Given the description of an element on the screen output the (x, y) to click on. 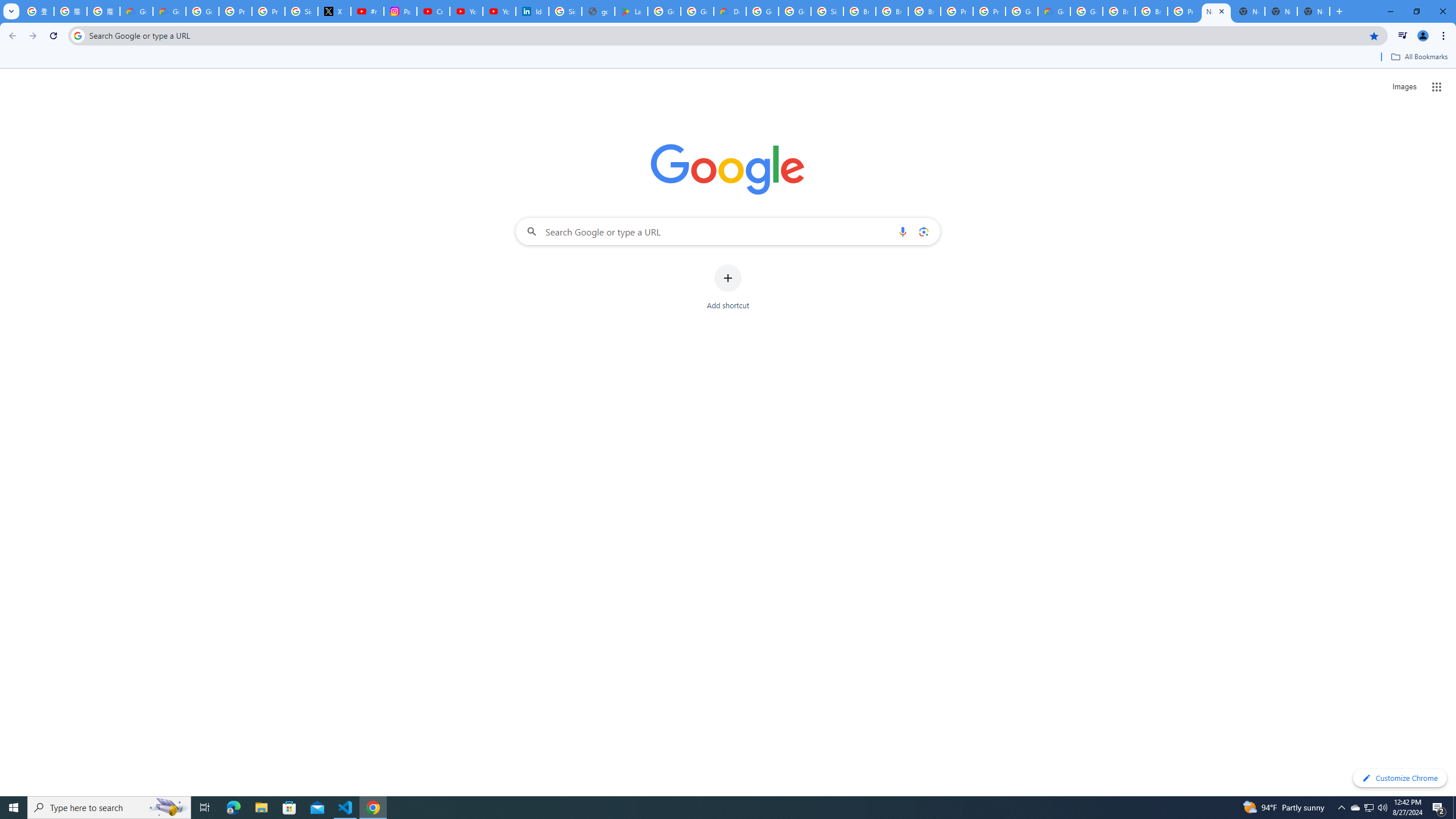
Identity verification via Persona | LinkedIn Help (532, 11)
